Given the description of an element on the screen output the (x, y) to click on. 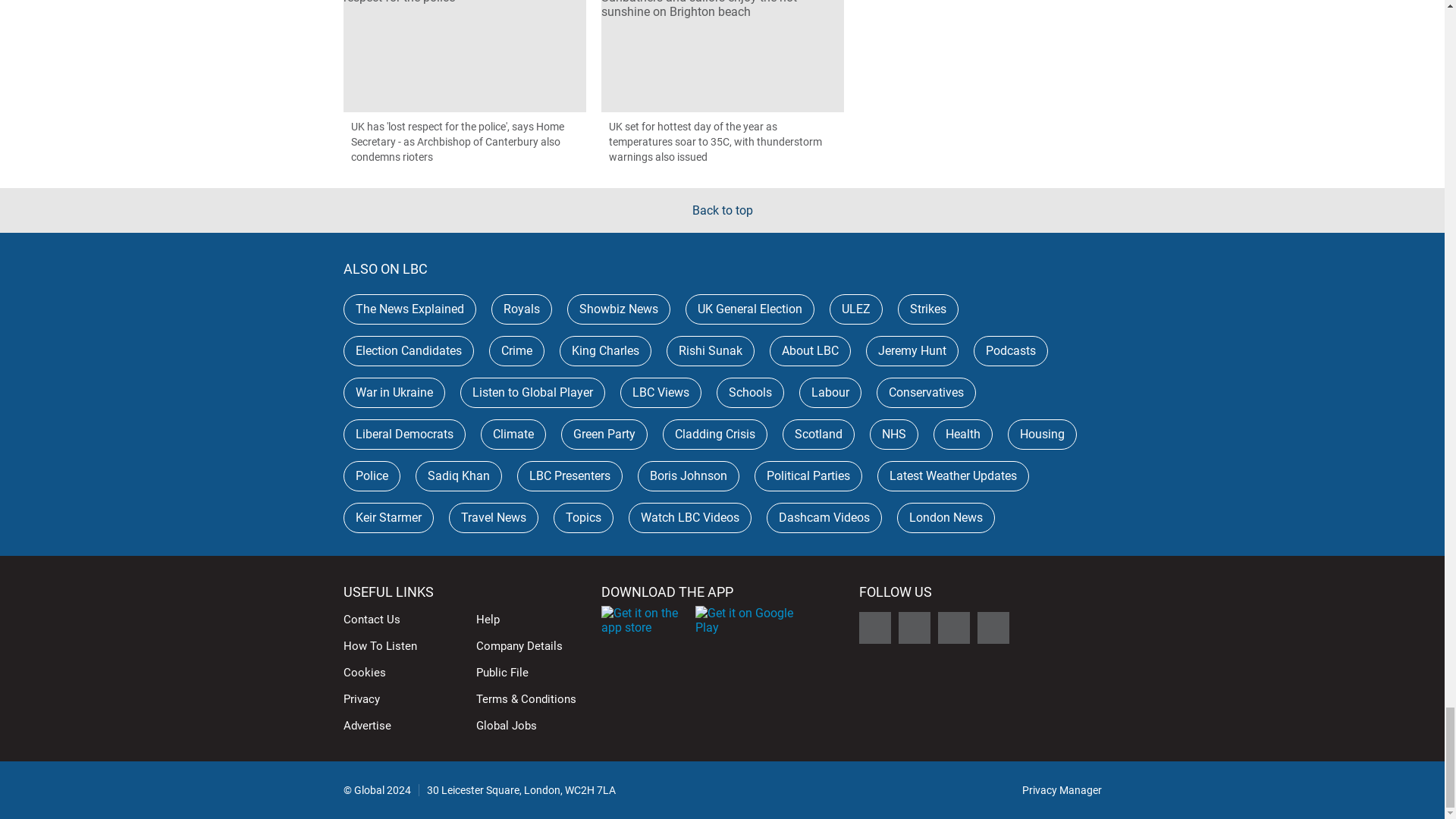
Follow LBC on Facebook (914, 627)
Back to top (721, 210)
Follow LBC on X (874, 627)
Follow LBC on Youtube (992, 627)
Follow LBC on Instagram (953, 627)
